Given the description of an element on the screen output the (x, y) to click on. 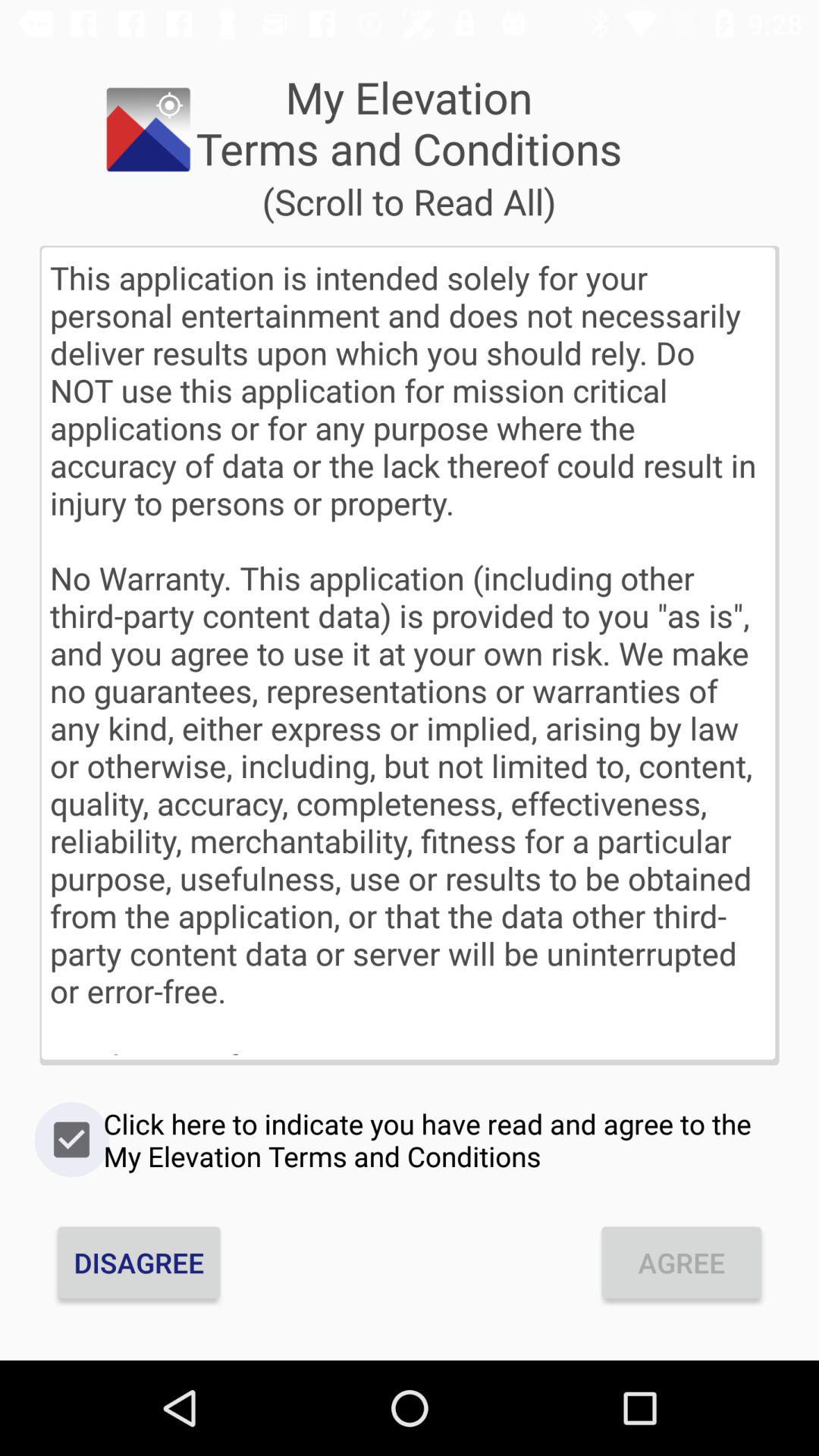
select the item below the this application is (409, 1140)
